Given the description of an element on the screen output the (x, y) to click on. 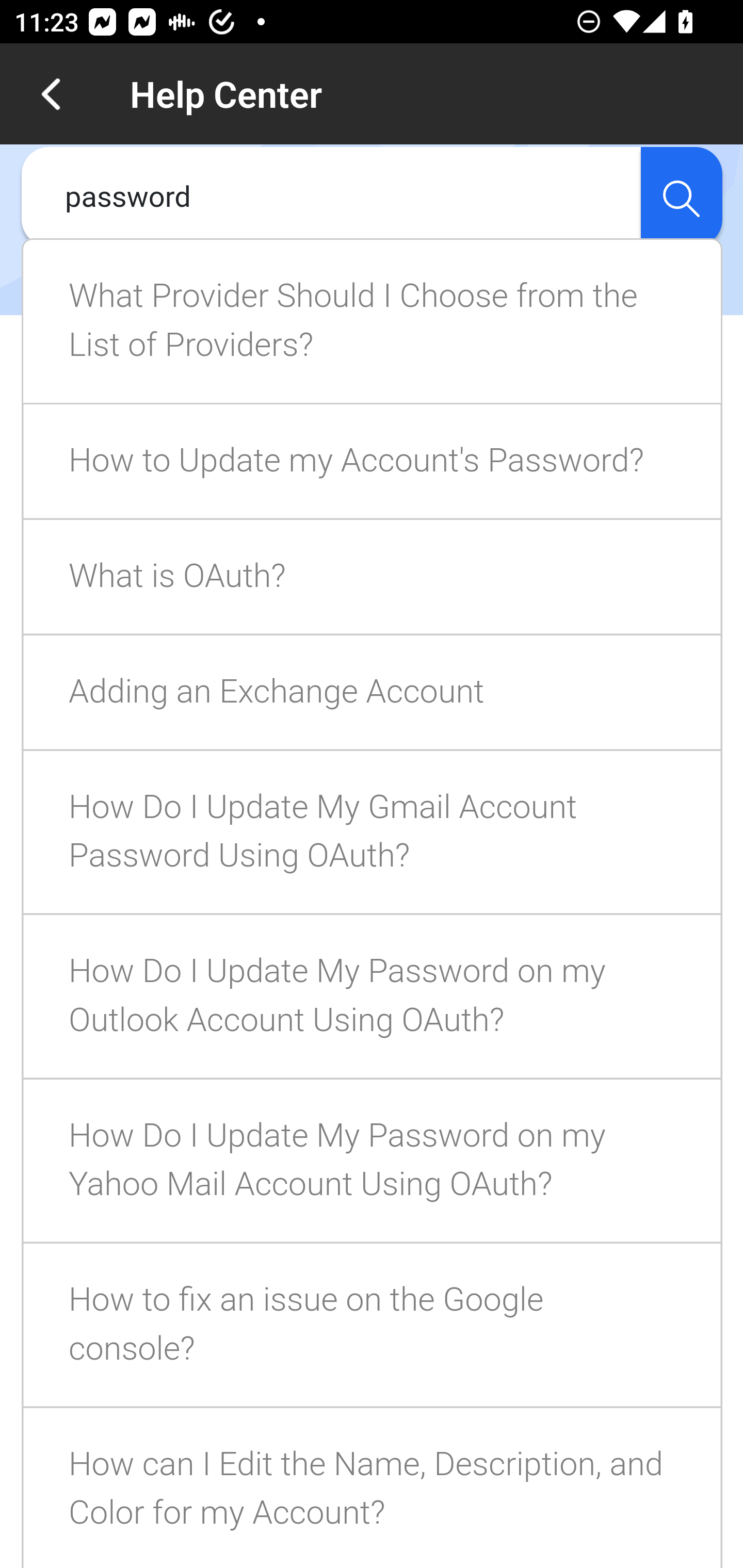
Navigate up (50, 93)
password (330, 196)
search (680, 196)
How to Update my Account's Password? (372, 462)
What is OAuth? (372, 576)
Adding an Exchange Account (372, 692)
How to fix an issue on the Google console? (372, 1326)
